Given the description of an element on the screen output the (x, y) to click on. 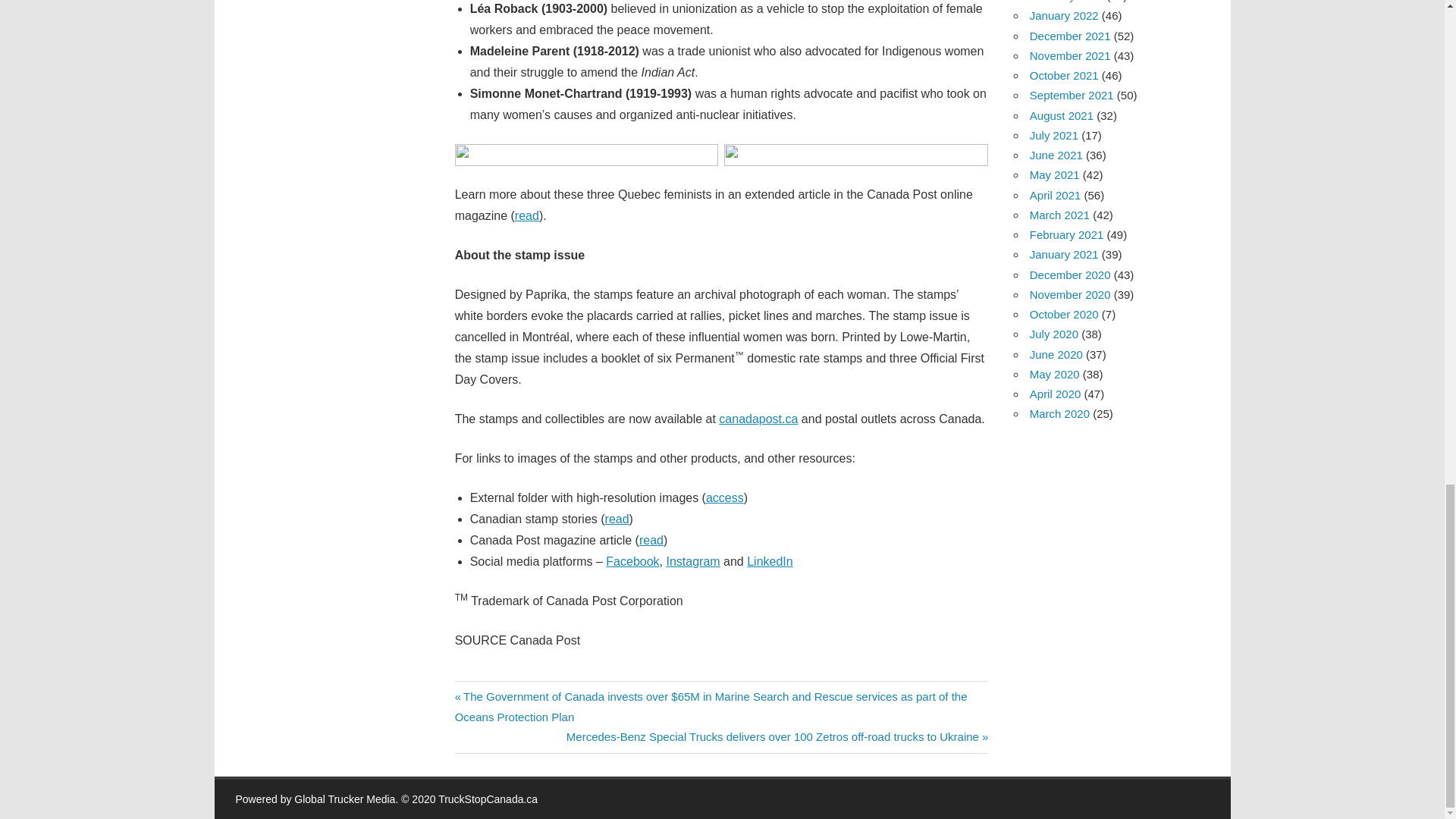
Instagram (692, 561)
read (651, 540)
read (616, 518)
read (526, 215)
LinkedIn (769, 561)
canadapost.ca (758, 418)
Facebook (632, 561)
access (725, 497)
